Given the description of an element on the screen output the (x, y) to click on. 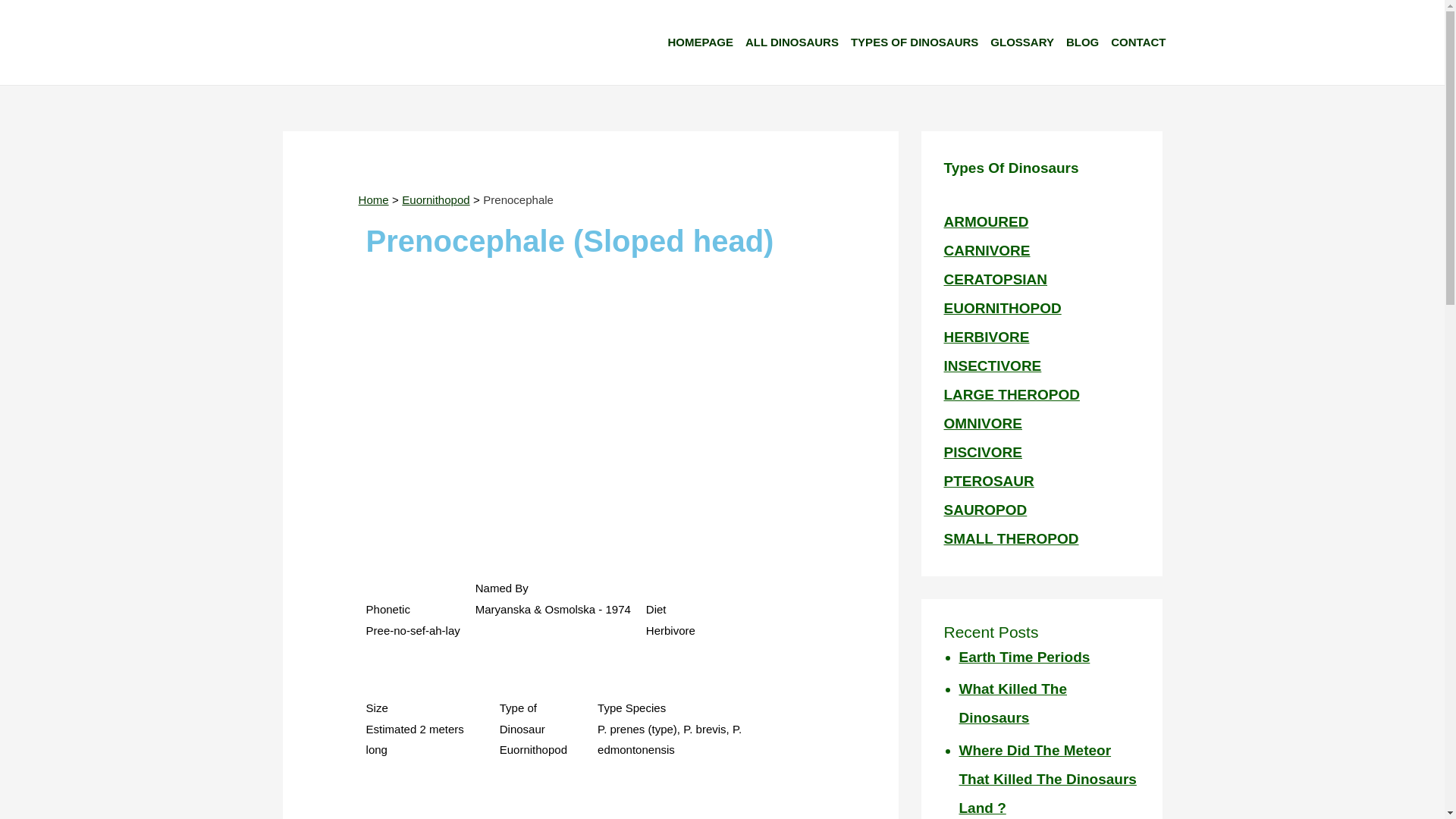
TYPES OF DINOSAURS (920, 41)
Home (373, 199)
HOMEPAGE (705, 41)
CONTACT (1142, 41)
ARMOURED (985, 221)
GLOSSARY (1027, 41)
ALL DINOSAURS (797, 41)
Euornithopod (434, 199)
